Given the description of an element on the screen output the (x, y) to click on. 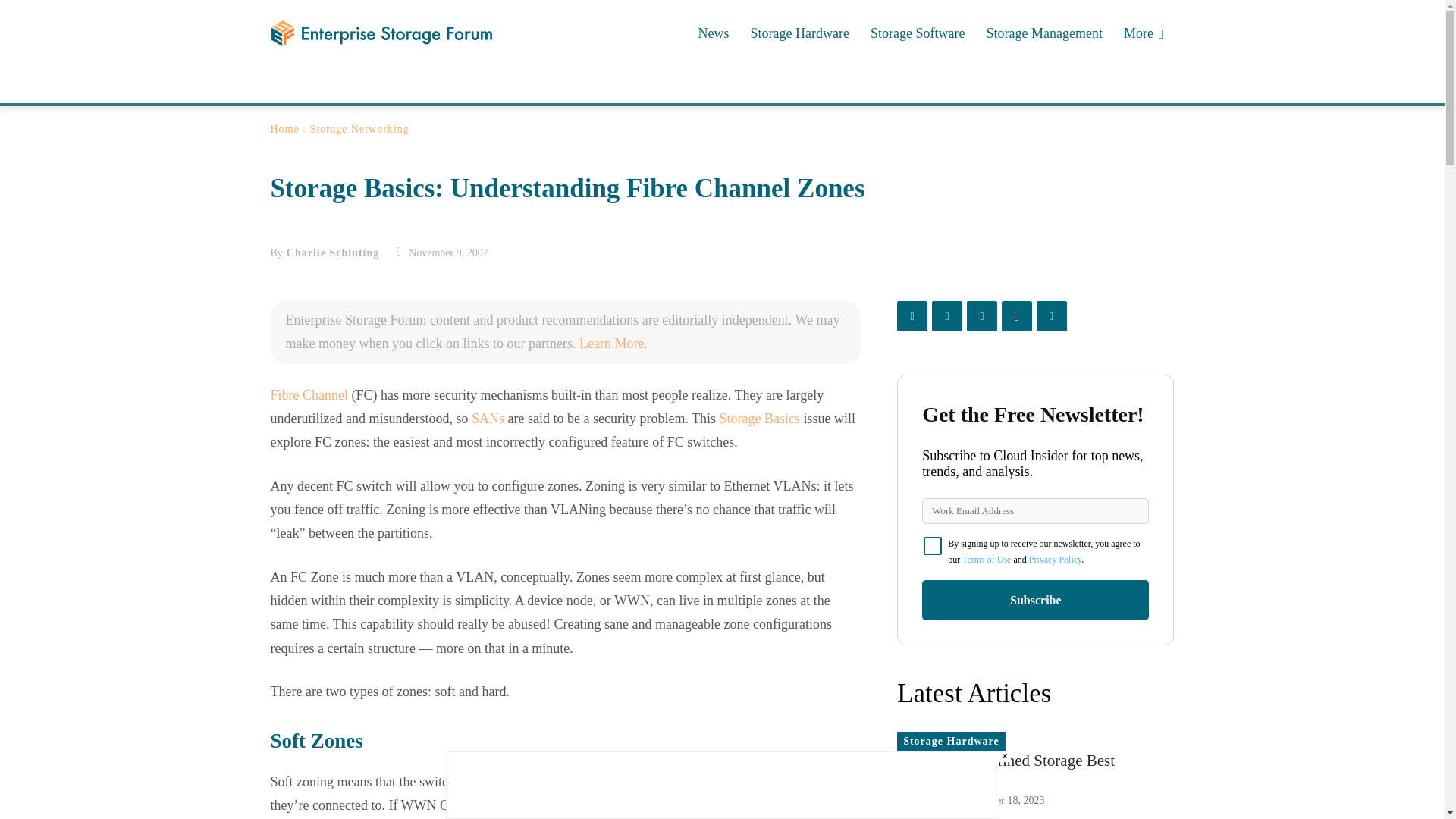
Linkedin (351, 86)
Storage Management (1043, 33)
Storage Software (917, 33)
Storage Networking (359, 129)
Charlie Schluting (332, 252)
Storage Basics (759, 418)
on (932, 546)
Twitter (283, 86)
Search (1143, 86)
Home (283, 129)
Learn More (611, 343)
News (713, 33)
View all posts in Storage Networking (359, 129)
SANs (487, 418)
Facebook (317, 86)
